Given the description of an element on the screen output the (x, y) to click on. 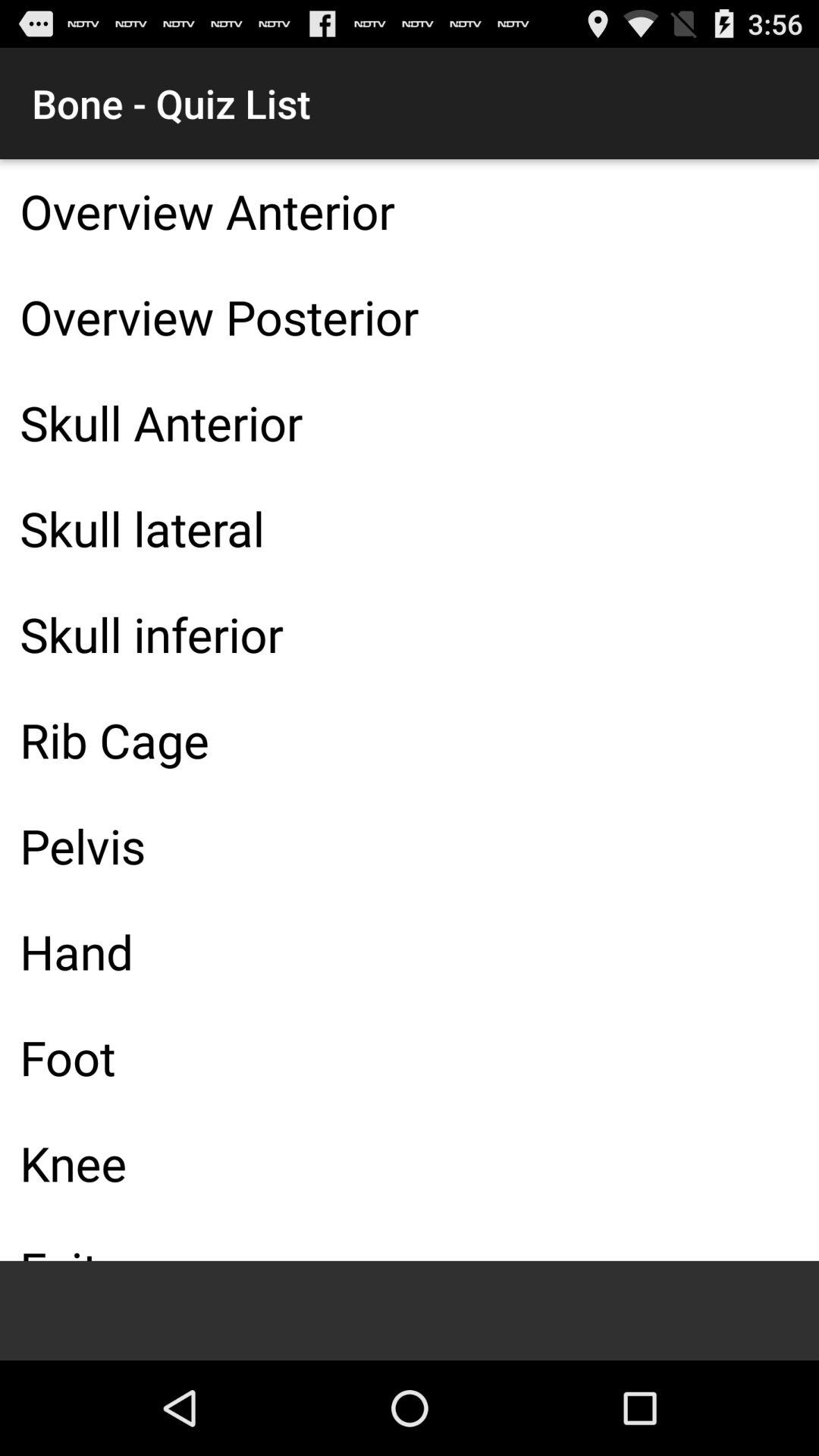
choose item below the bone - quiz list item (409, 210)
